Given the description of an element on the screen output the (x, y) to click on. 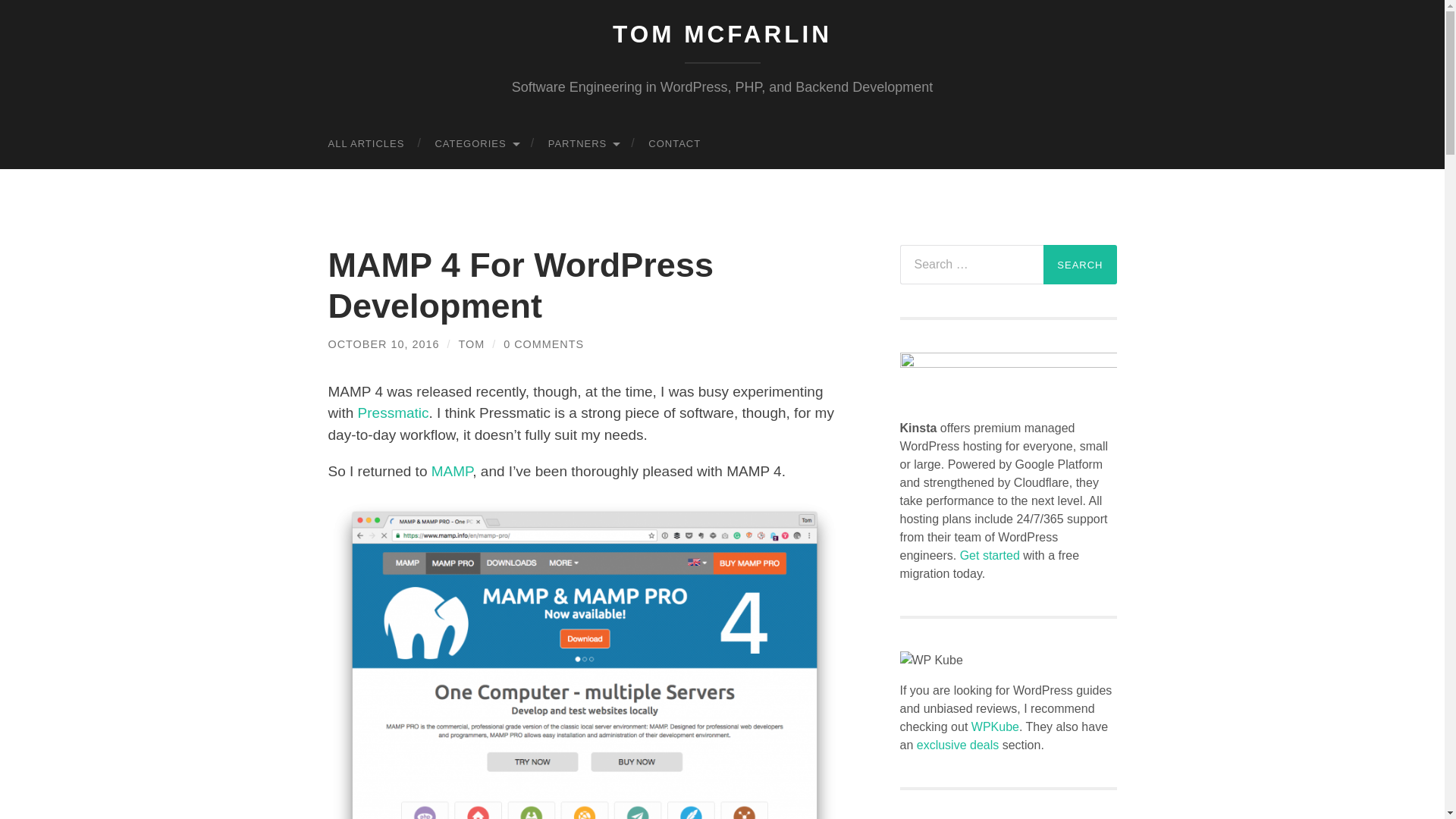
OCTOBER 10, 2016 (383, 344)
MAMP (451, 471)
CATEGORIES (475, 142)
CONTACT (674, 142)
Search (1079, 264)
TOM MCFARLIN (721, 33)
Posts by Tom (471, 344)
ALL ARTICLES (366, 142)
TOM (471, 344)
PARTNERS (582, 142)
